Given the description of an element on the screen output the (x, y) to click on. 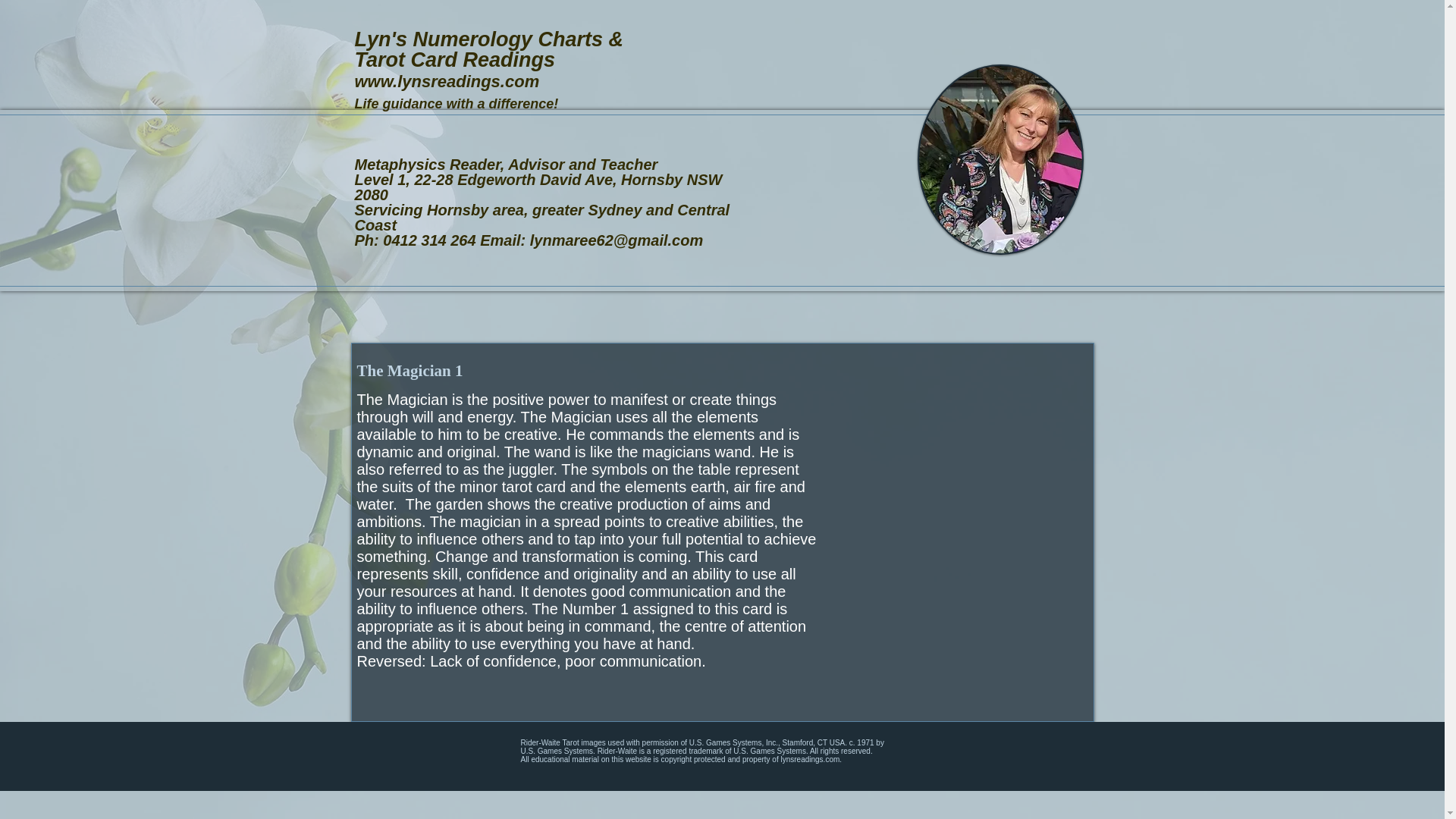
Tarot Card Readings (455, 59)
www.lynsreadings.com (447, 81)
